Given the description of an element on the screen output the (x, y) to click on. 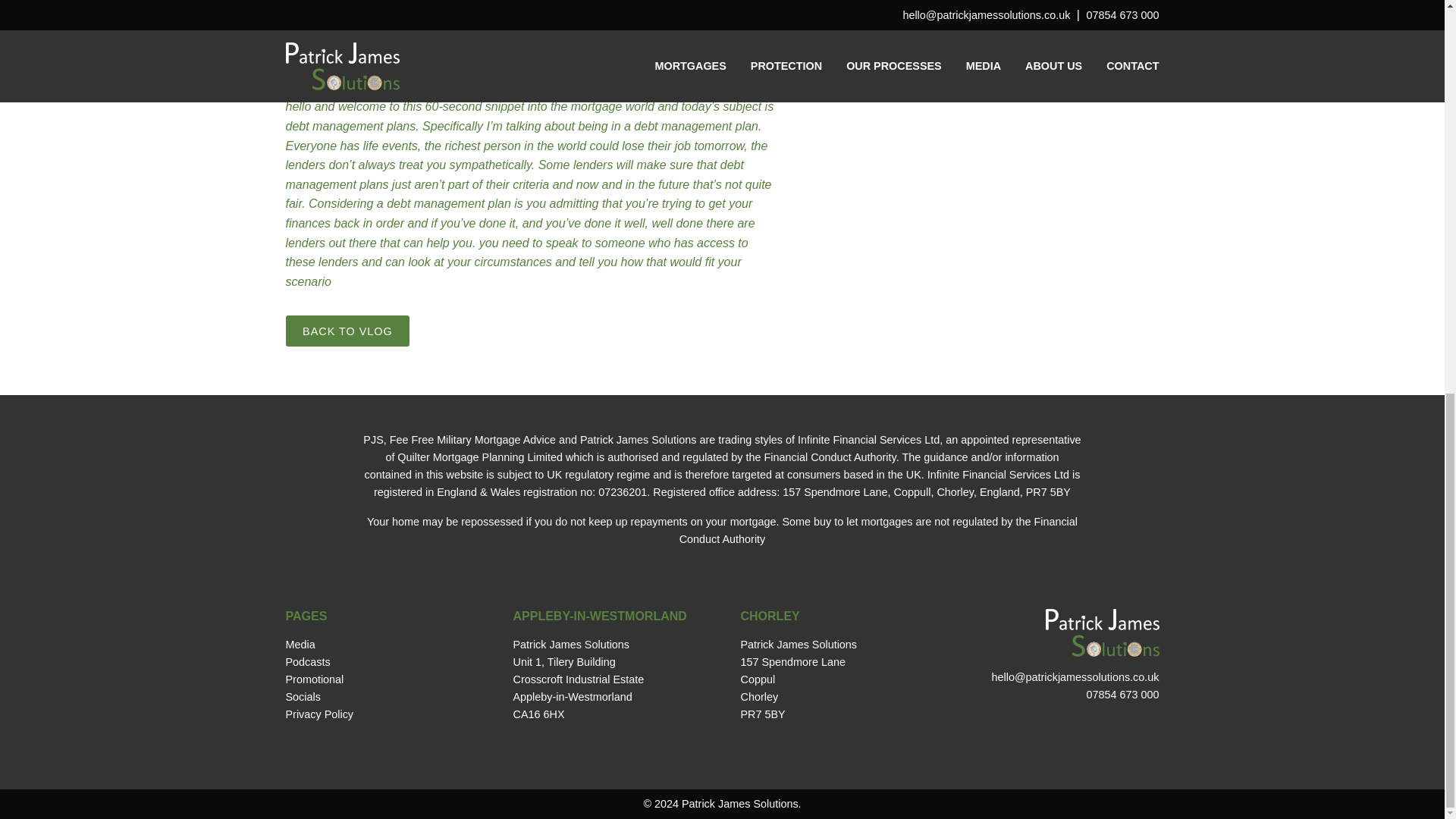
Debt Management Plan (740, 39)
